Given the description of an element on the screen output the (x, y) to click on. 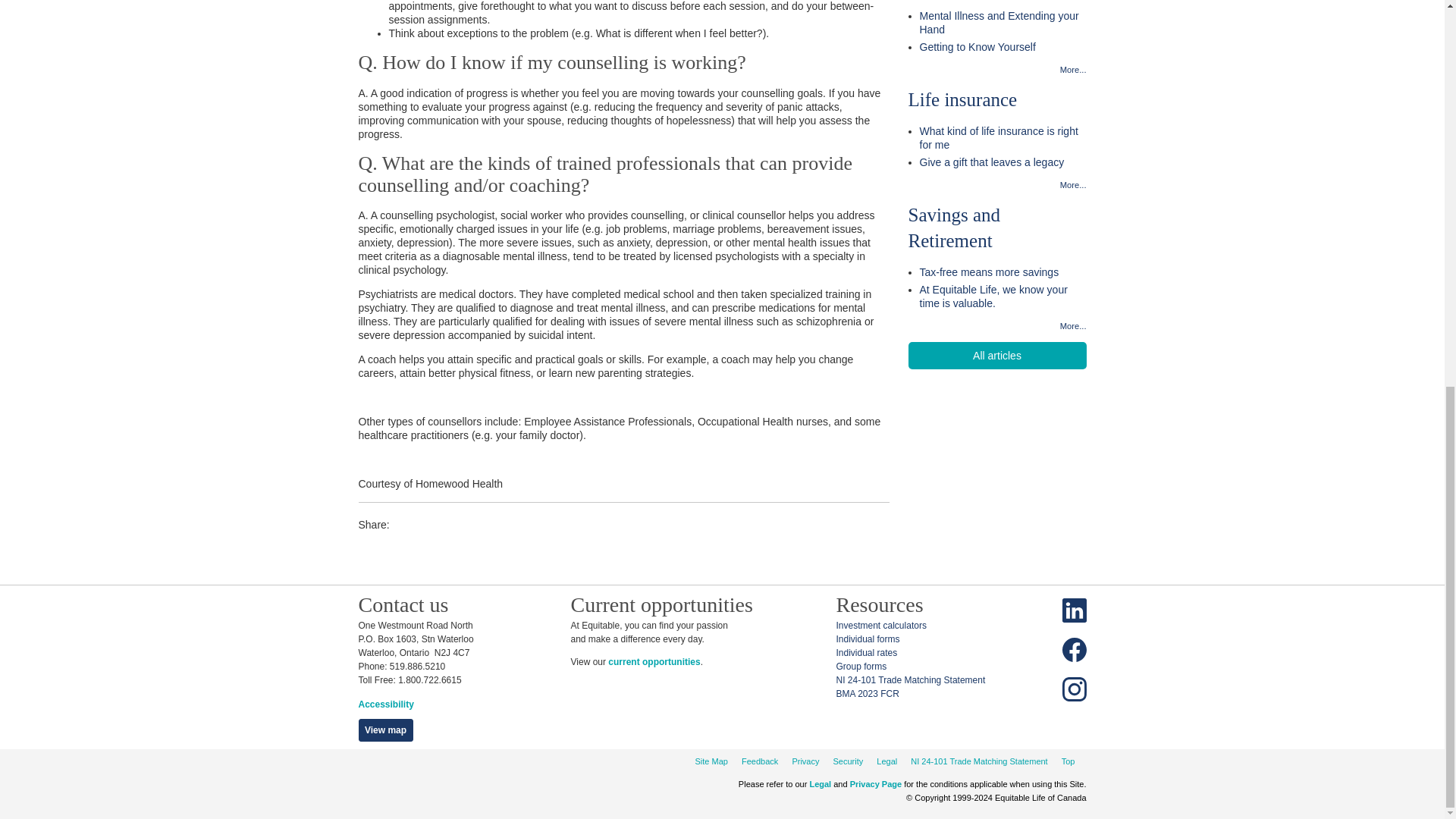
Give a gift that leaves a legacy (1002, 161)
Getting to Know Yourself (1002, 47)
Life insurance (962, 99)
More... (997, 69)
What kind of life insurance is right for me (1002, 137)
Tax-free means more savings (1002, 272)
Savings and Retirement (954, 227)
Mental Illness and Extending your Hand (1002, 22)
More... (997, 184)
